Given the description of an element on the screen output the (x, y) to click on. 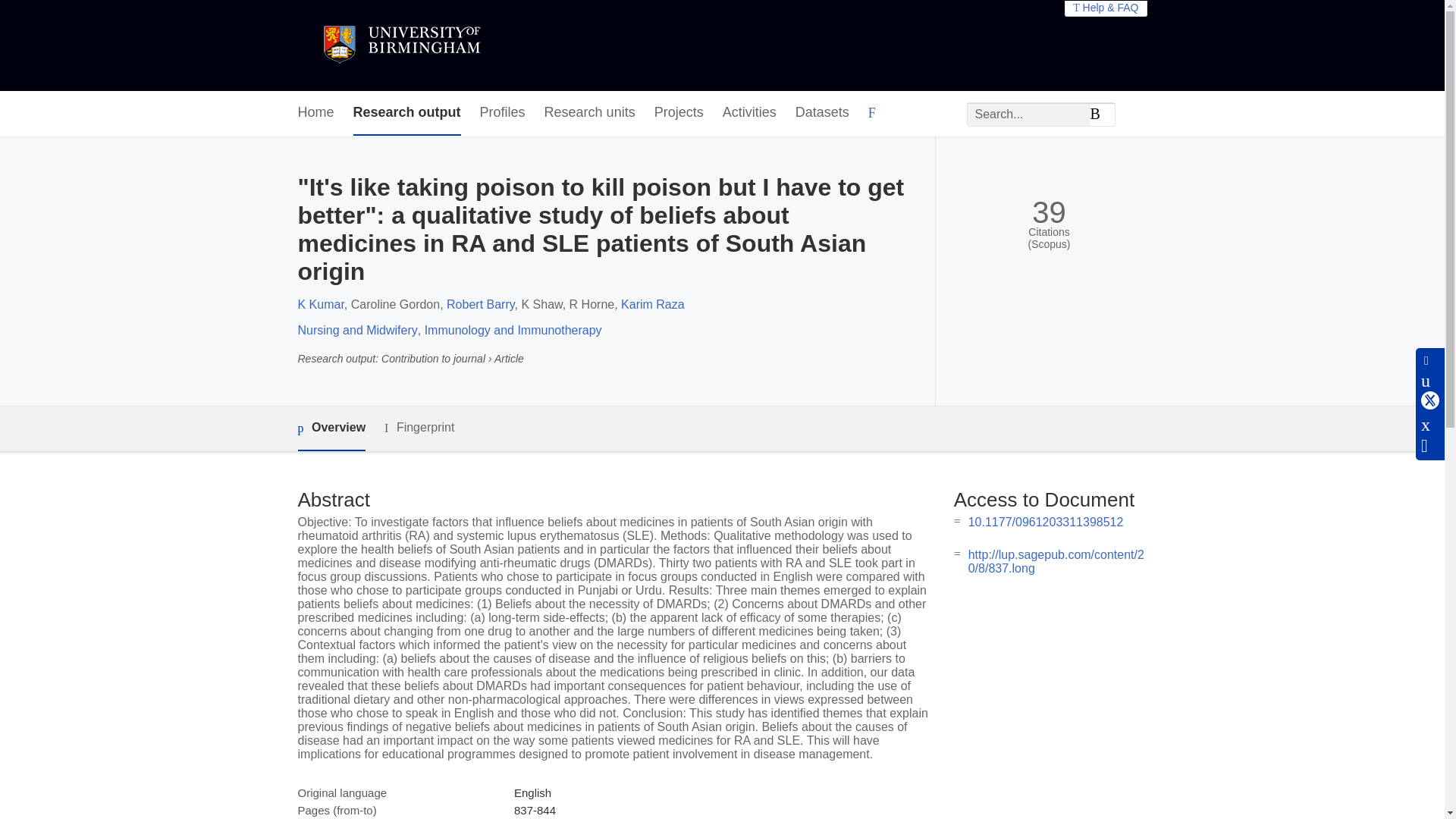
Research units (589, 112)
Overview (331, 428)
K Kumar (320, 304)
Immunology and Immunotherapy (513, 329)
Projects (678, 112)
Datasets (821, 112)
Activities (749, 112)
Research output (407, 112)
Karim Raza (652, 304)
